Given the description of an element on the screen output the (x, y) to click on. 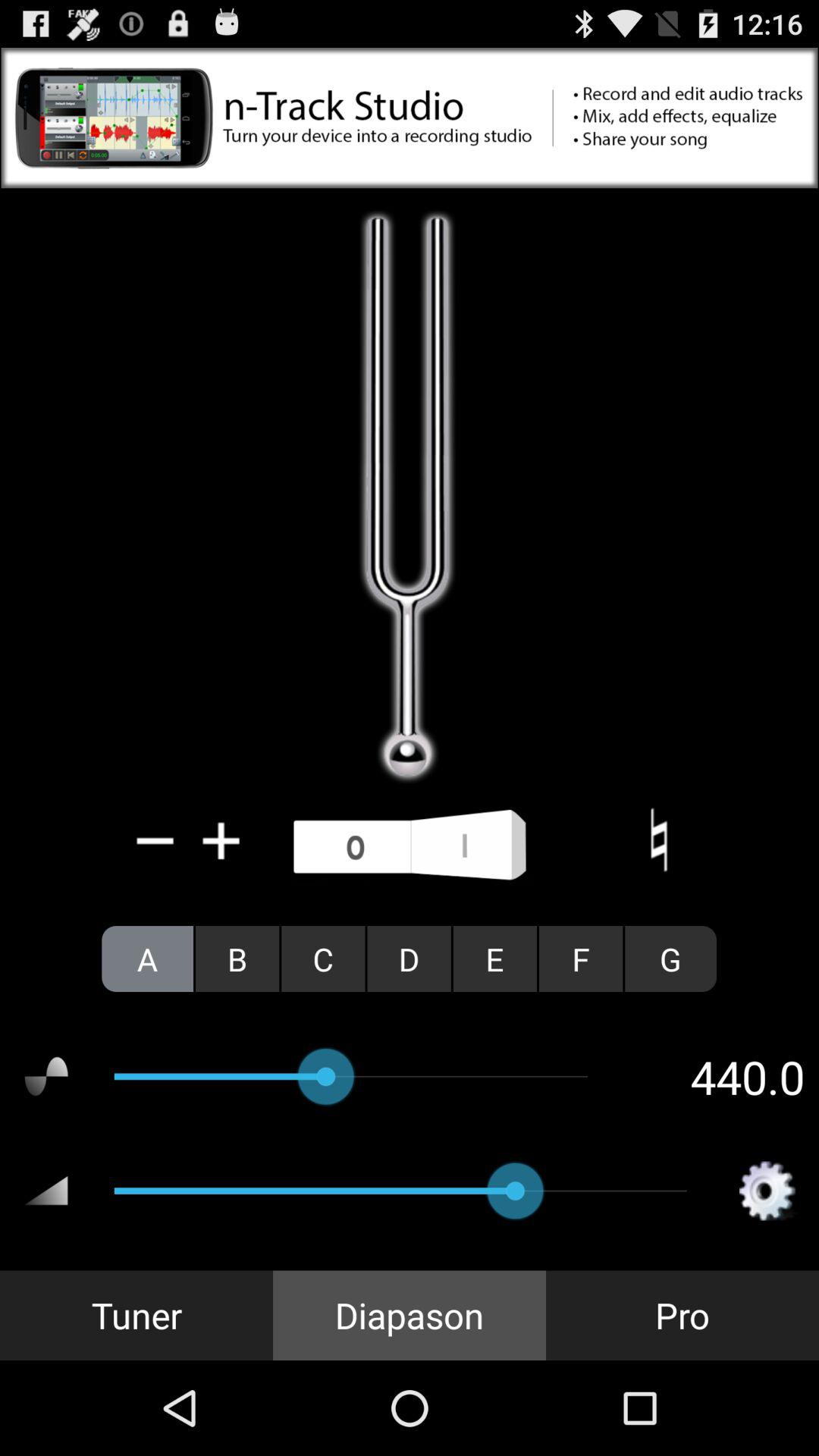
lower volume (155, 840)
